Given the description of an element on the screen output the (x, y) to click on. 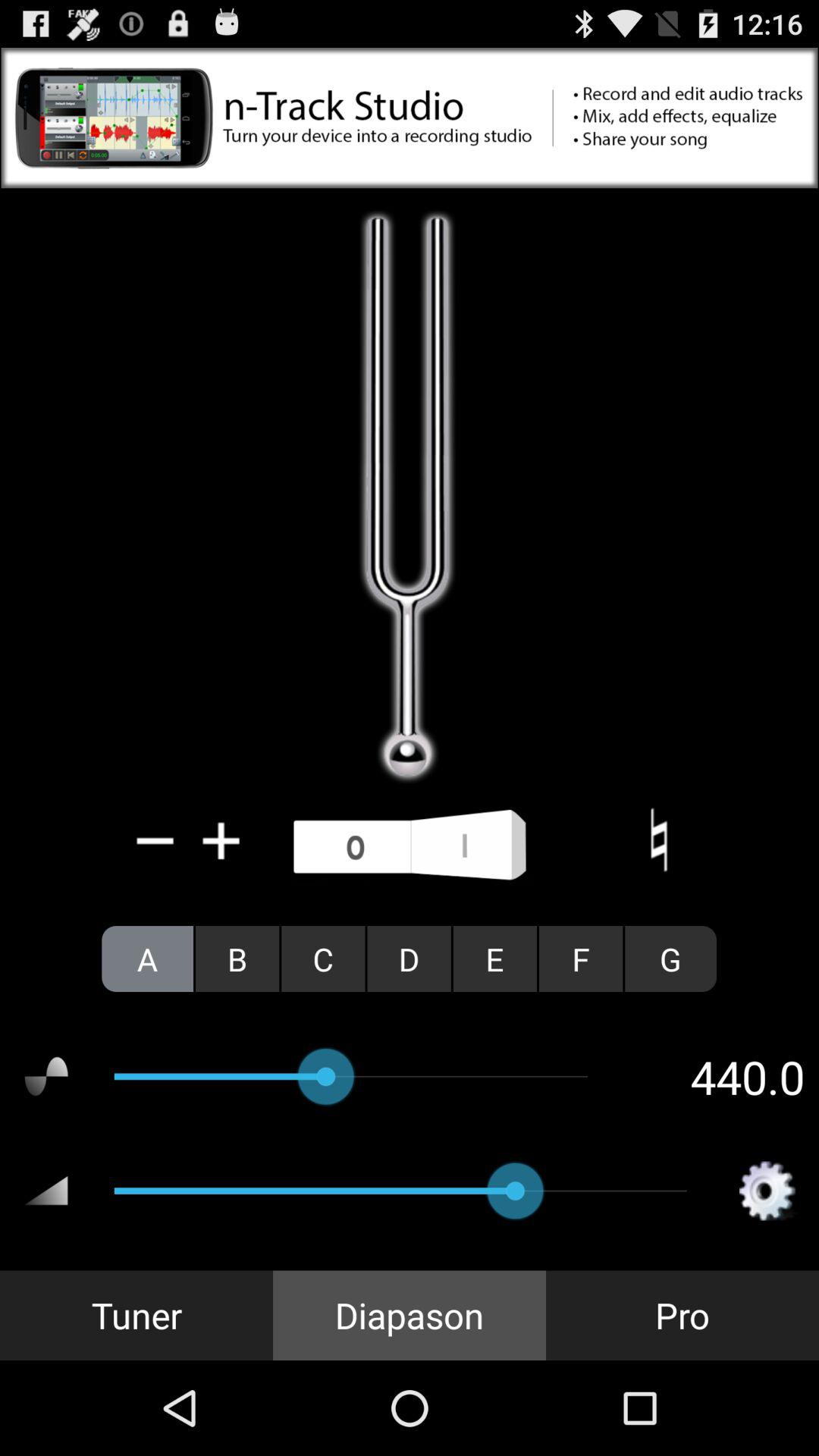
lower volume (155, 840)
